Given the description of an element on the screen output the (x, y) to click on. 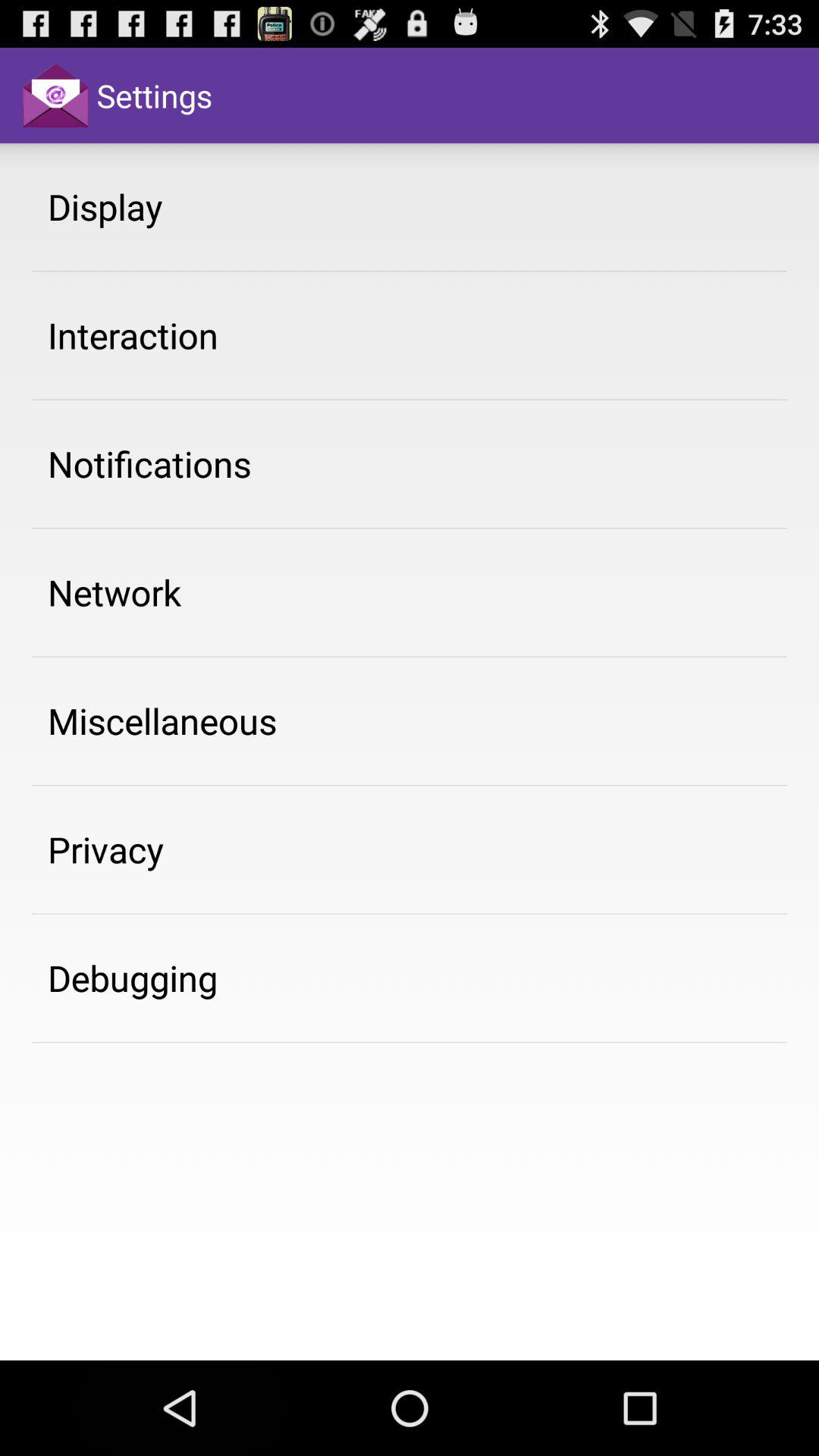
choose the interaction item (132, 335)
